Given the description of an element on the screen output the (x, y) to click on. 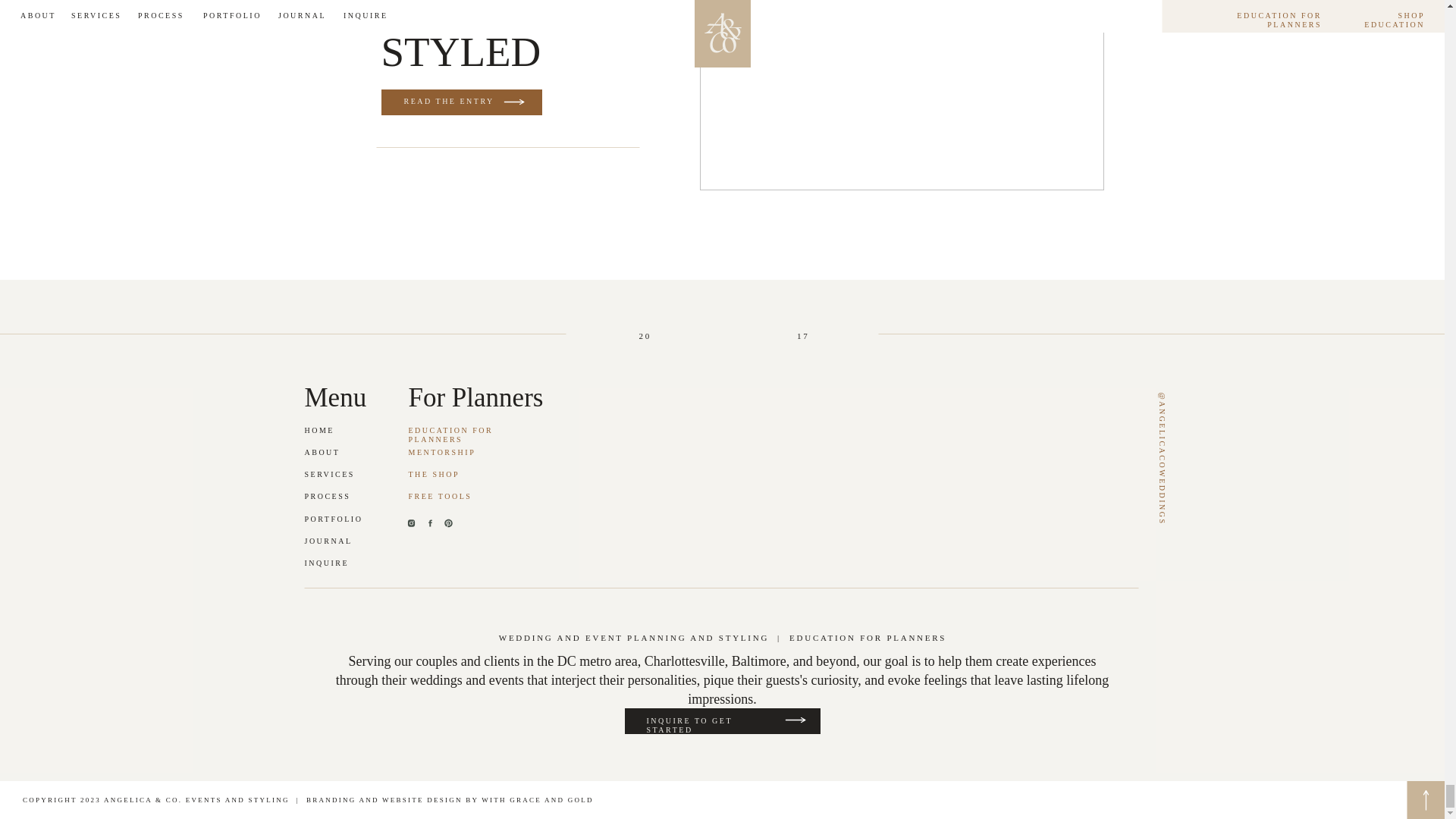
The Manor at Airmont Styled Shoot: Look No. 2 (512, 101)
The Manor at Airmont Styled Shoot: Look No. 2 (460, 102)
The Manor at Airmont Styled Shoot: Look No. 2 (452, 102)
The Manor at Airmont Styled Shoot: Look No. 2 (900, 95)
